Given the description of an element on the screen output the (x, y) to click on. 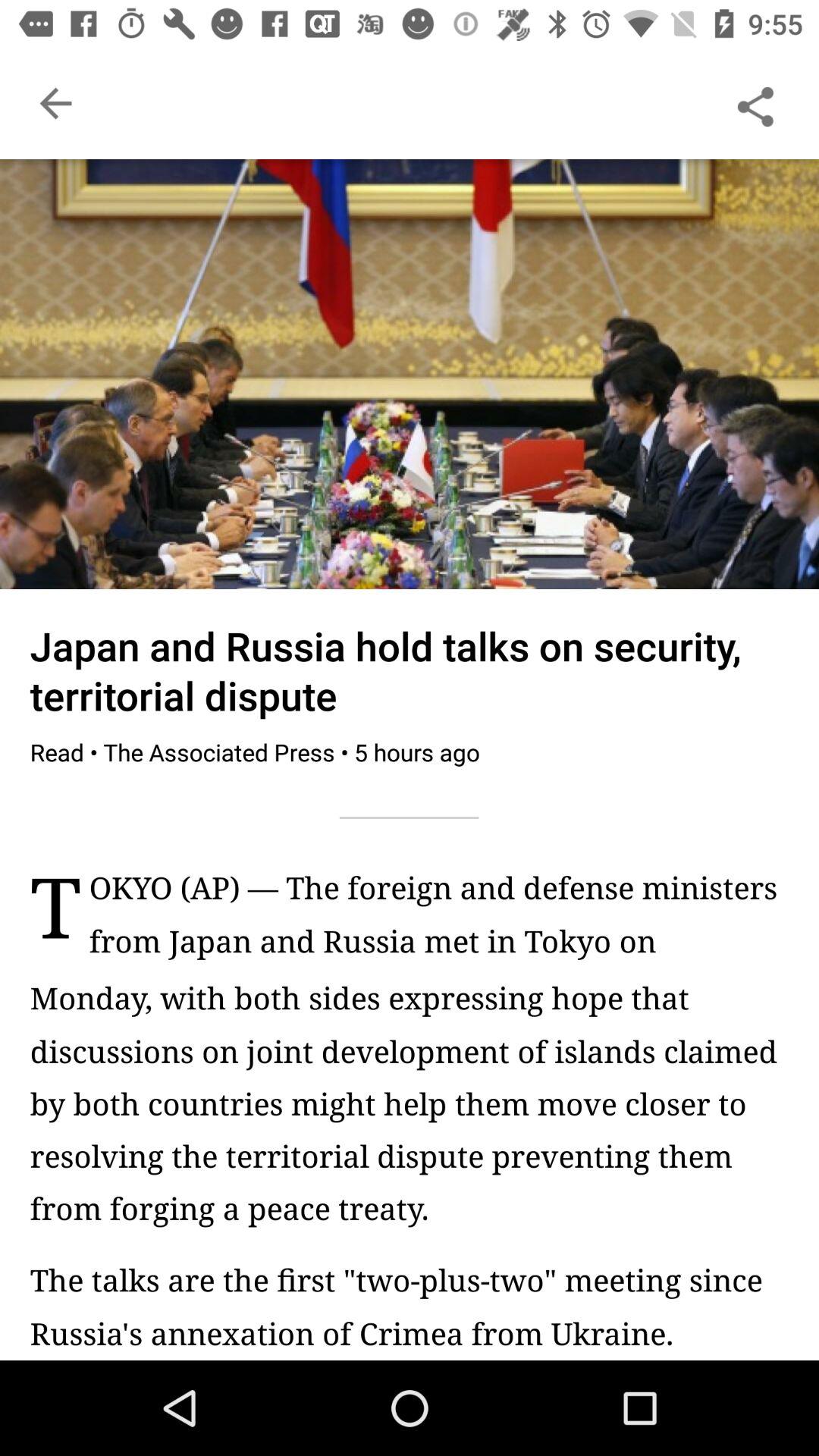
launch the item at the top right corner (755, 103)
